Given the description of an element on the screen output the (x, y) to click on. 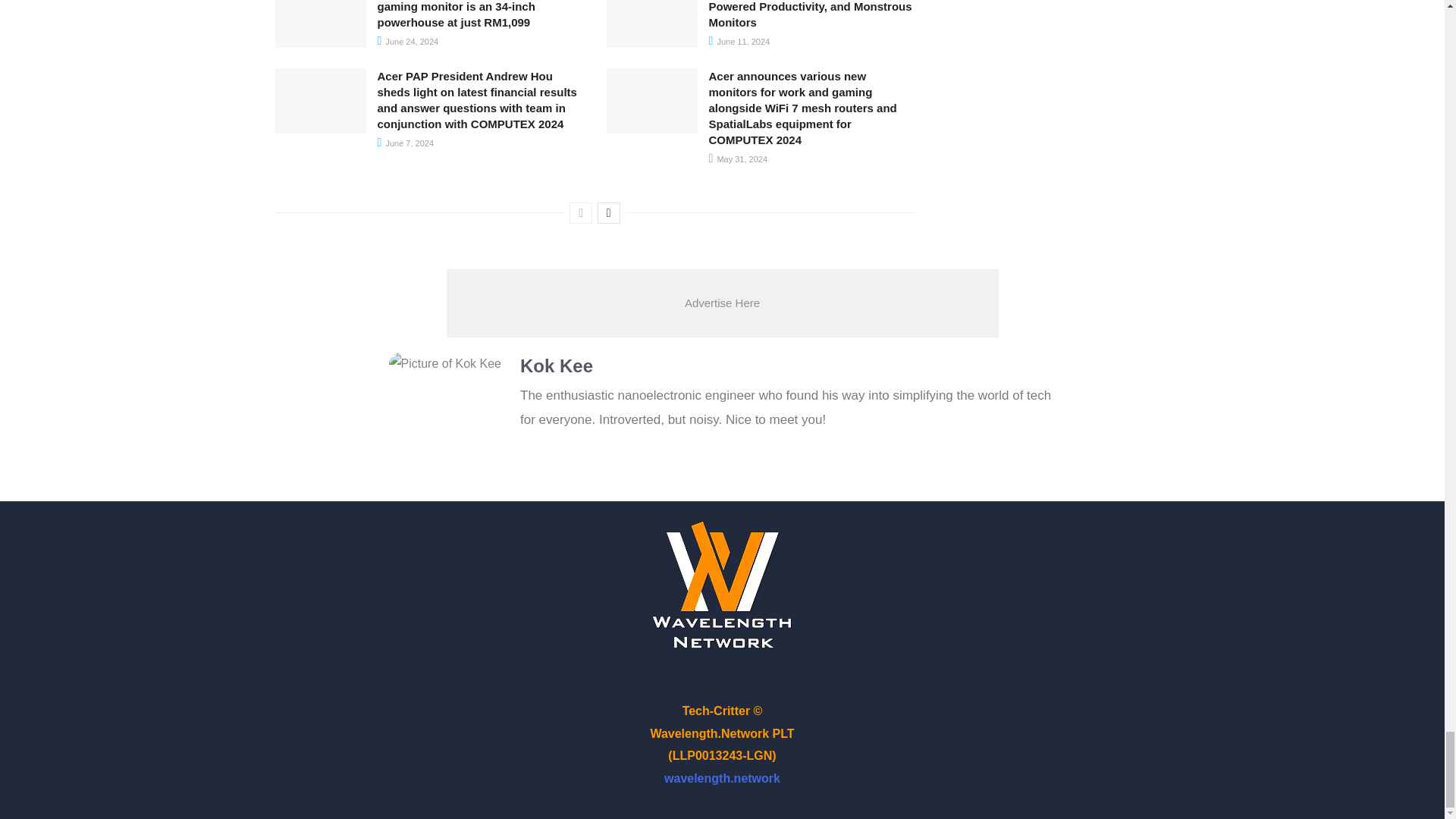
Next (608, 212)
Previous (580, 212)
